Given the description of an element on the screen output the (x, y) to click on. 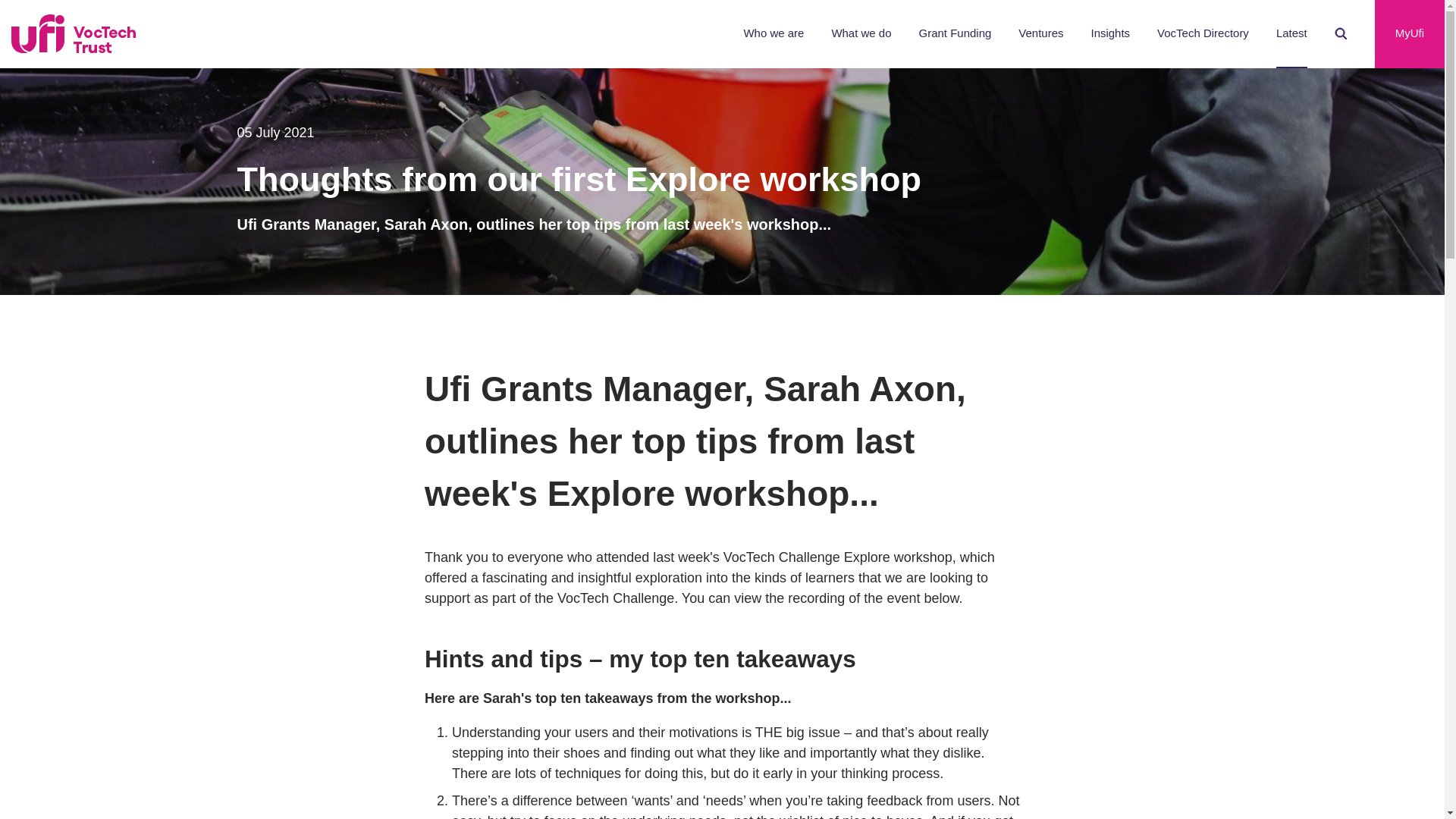
Who we are (772, 33)
Grant Funding (954, 33)
What we do (861, 33)
VocTech Directory (1203, 33)
